Given the description of an element on the screen output the (x, y) to click on. 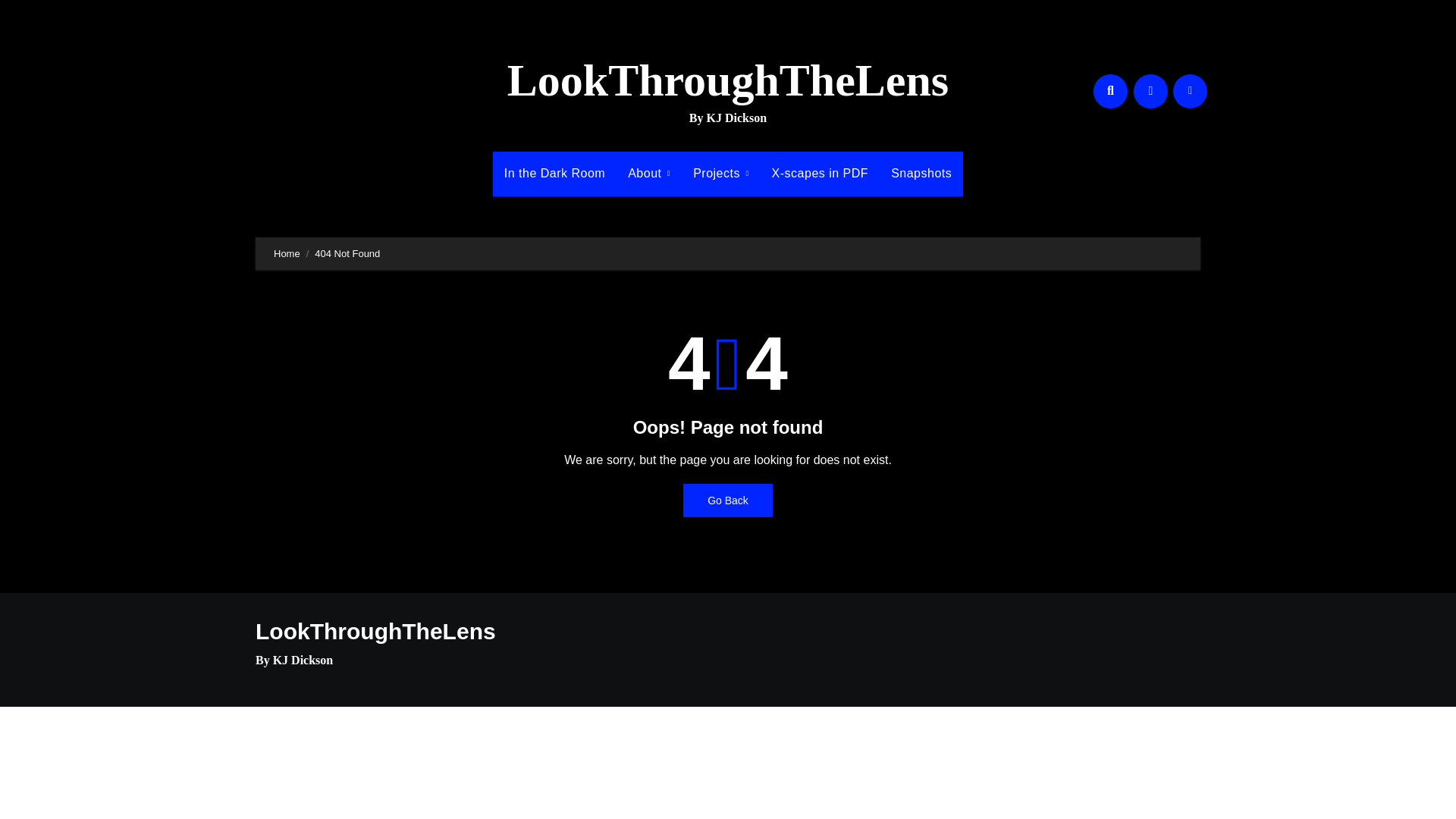
About (648, 173)
Projects (720, 173)
LookThroughTheLens (727, 80)
Home (286, 253)
Go Back (727, 500)
In the Dark Room (554, 173)
LookThroughTheLens (376, 631)
X-scapes in PDF (820, 173)
About (648, 173)
X-scapes in PDF (820, 173)
